Given the description of an element on the screen output the (x, y) to click on. 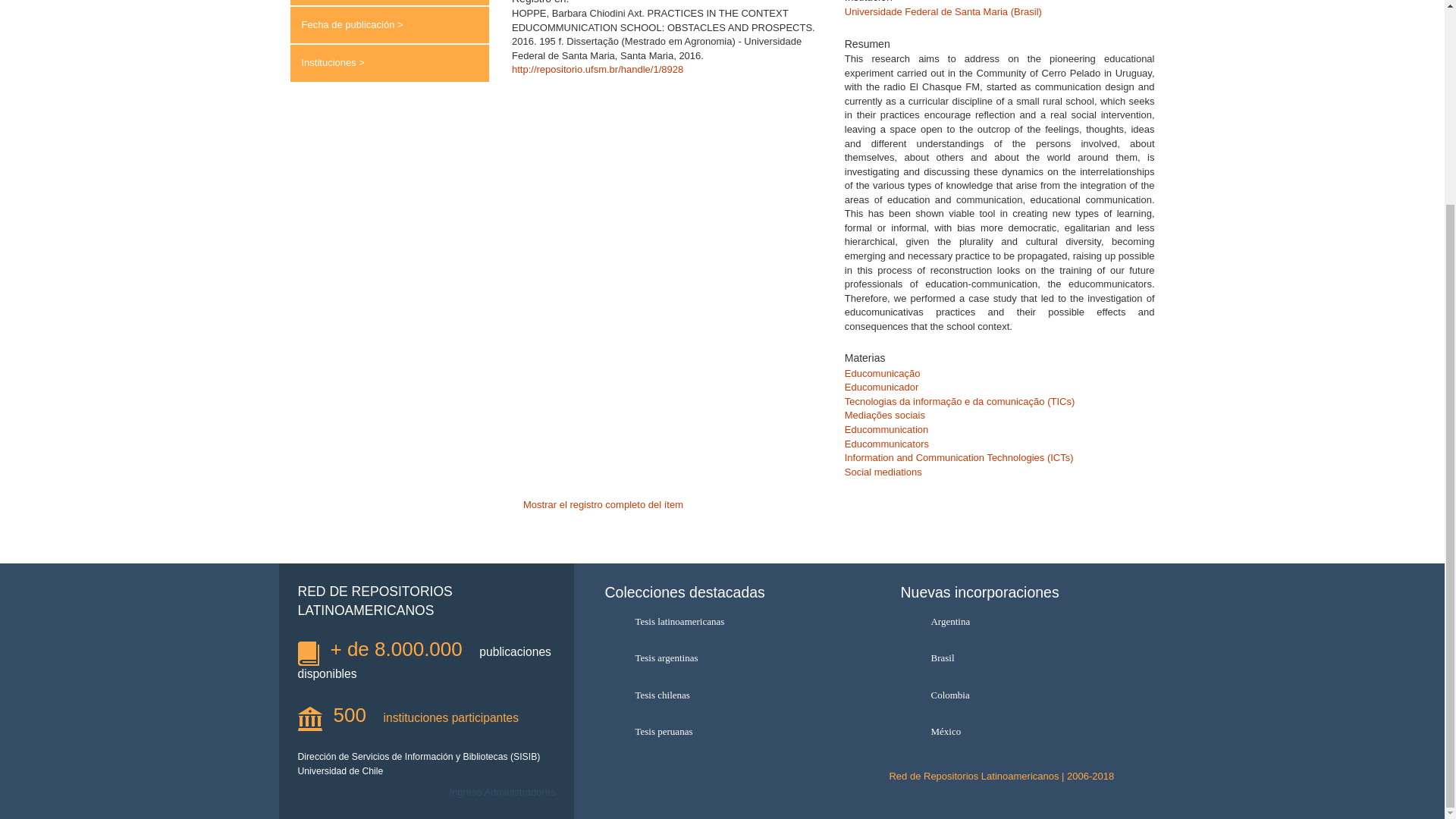
Educommunicators (886, 443)
Social mediations (882, 471)
Educomunicador (881, 387)
Educommunication (886, 429)
